Given the description of an element on the screen output the (x, y) to click on. 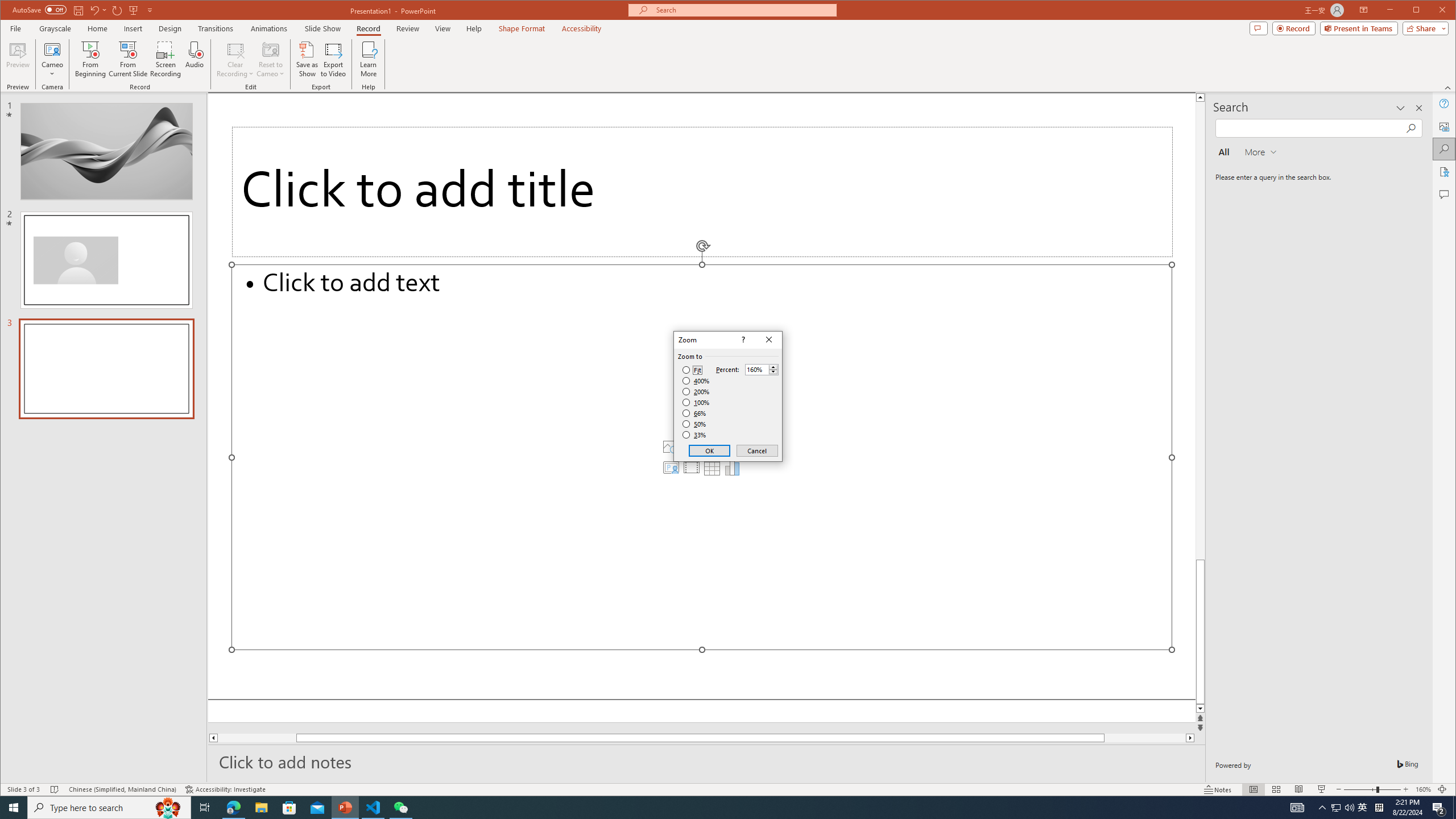
Screen Recording (165, 59)
